Given the description of an element on the screen output the (x, y) to click on. 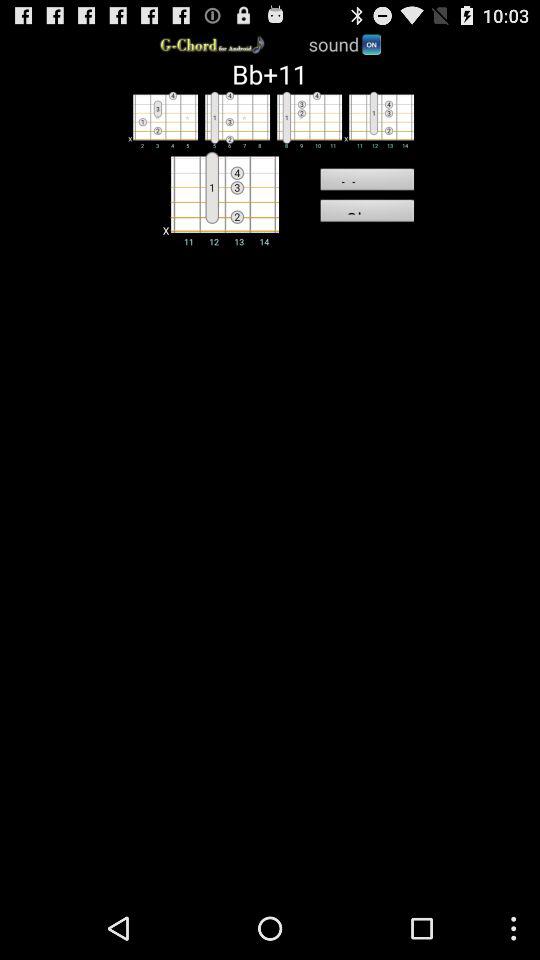
select or go to memo (378, 119)
